Given the description of an element on the screen output the (x, y) to click on. 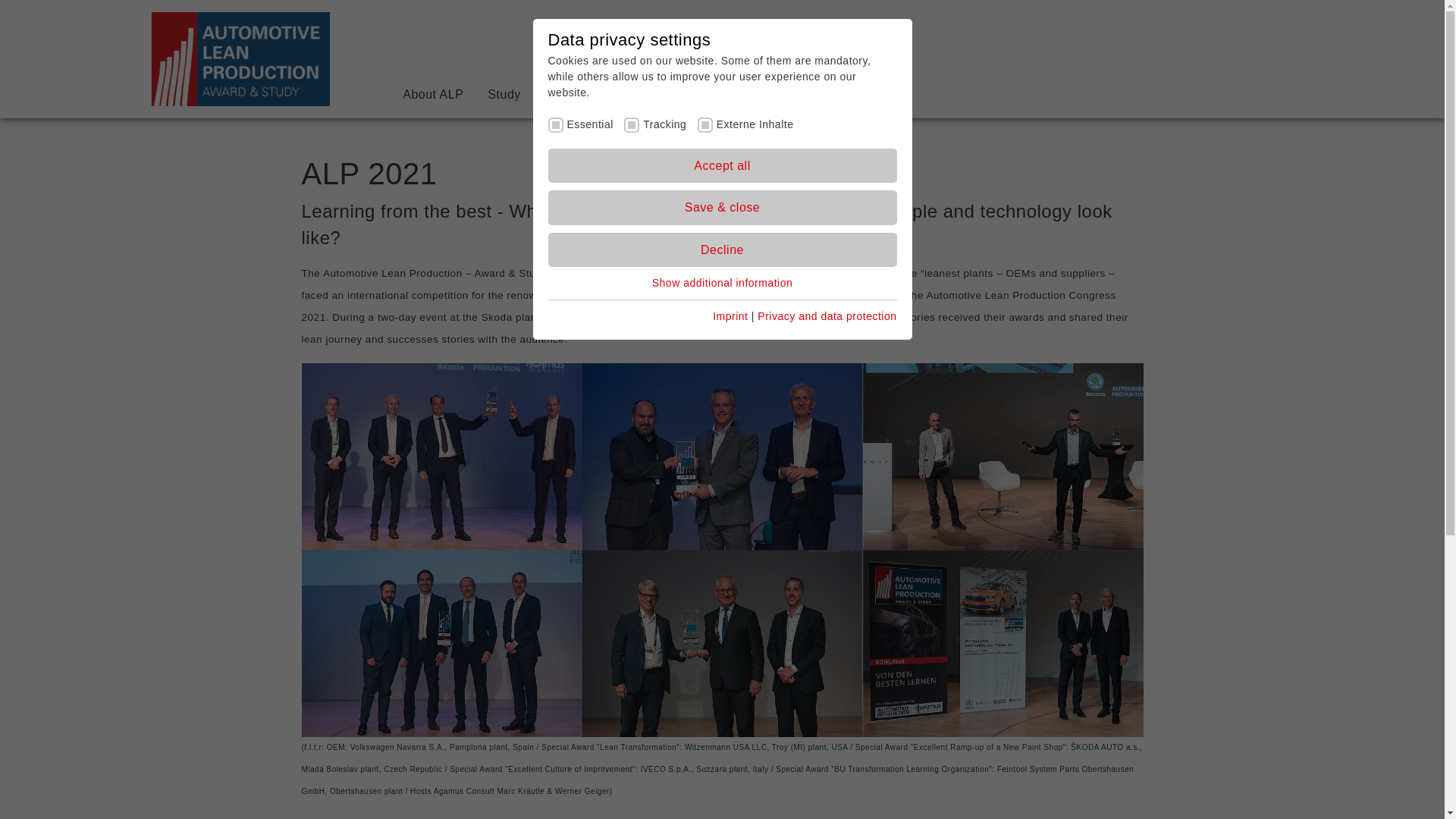
Awards0 (650, 94)
Study (504, 94)
About ALP (433, 94)
Archive (702, 191)
Congress (571, 94)
Awards (650, 94)
Archive (702, 191)
Recent Winners (721, 191)
Study (504, 94)
About ALP (433, 94)
